Given the description of an element on the screen output the (x, y) to click on. 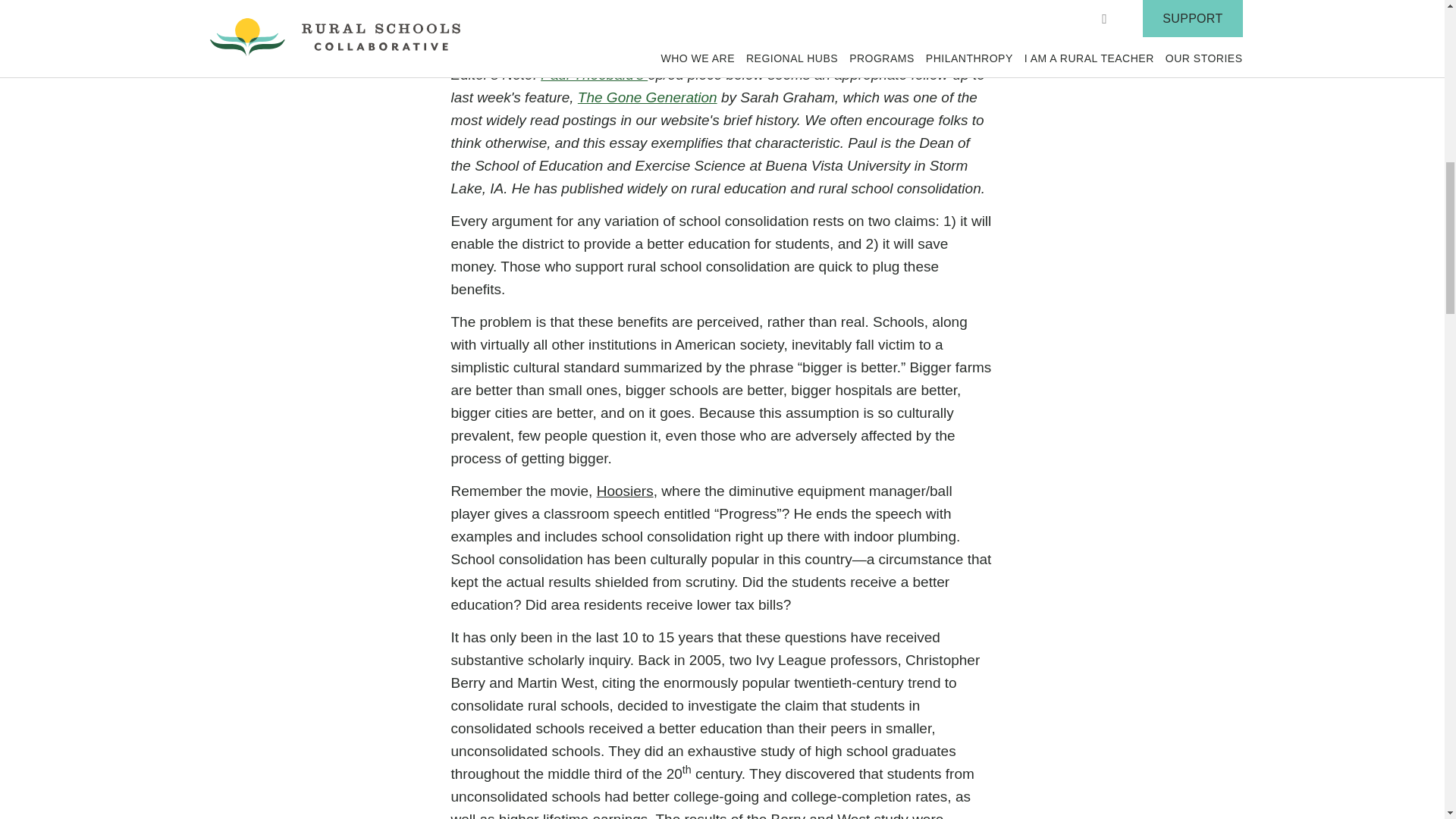
Paul Theobald's (593, 74)
The Gone Generation (647, 97)
